Given the description of an element on the screen output the (x, y) to click on. 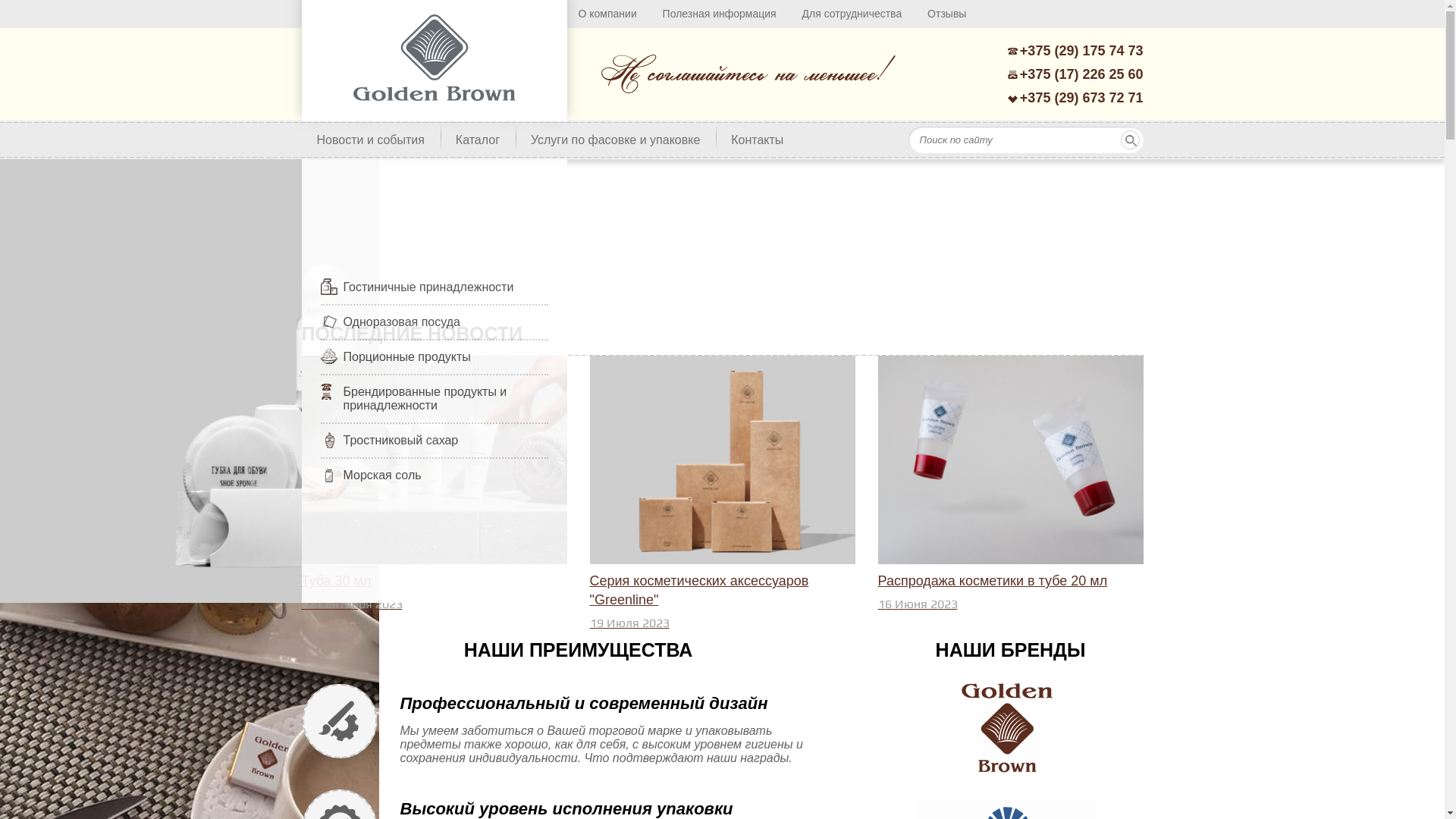
+375 (29) 673 72 71 Element type: text (1076, 98)
+375 (17) 226 25 60 Element type: text (1076, 74)
+375 (29) 175 74 73 Element type: text (1076, 51)
